Given the description of an element on the screen output the (x, y) to click on. 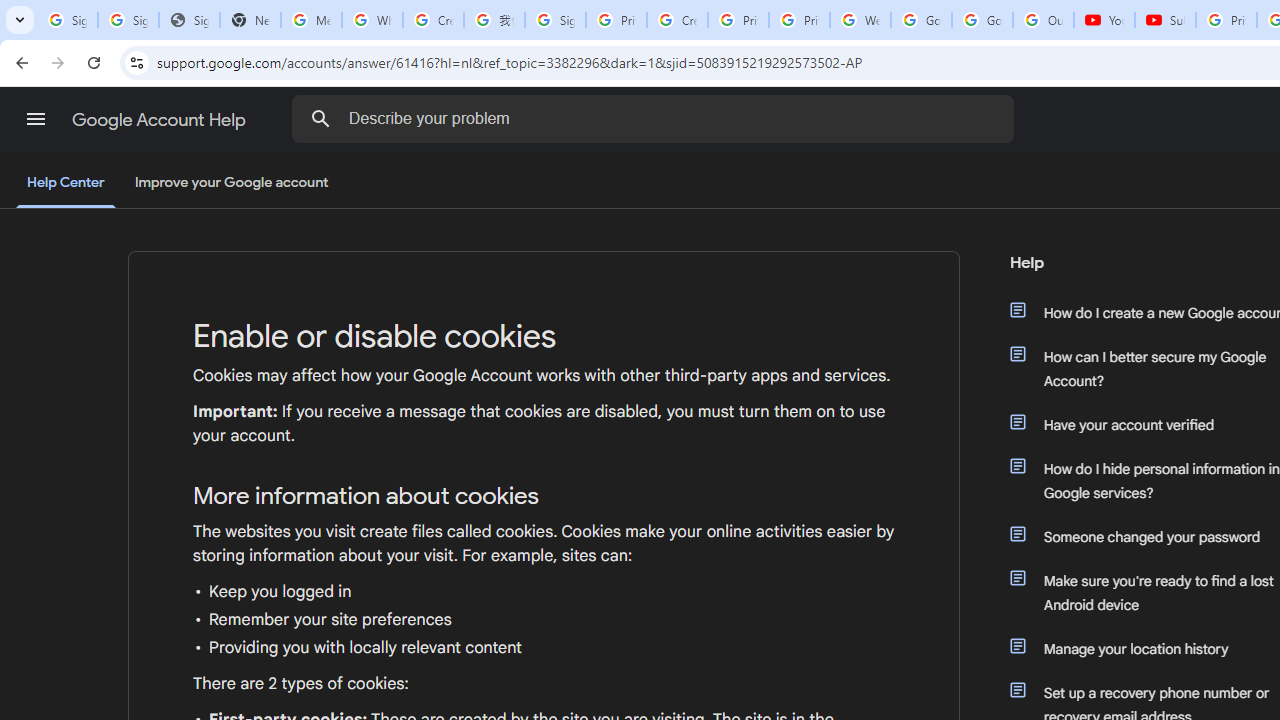
Subscriptions - YouTube (1165, 20)
Help Center (65, 183)
Improve your Google account (231, 183)
